Given the description of an element on the screen output the (x, y) to click on. 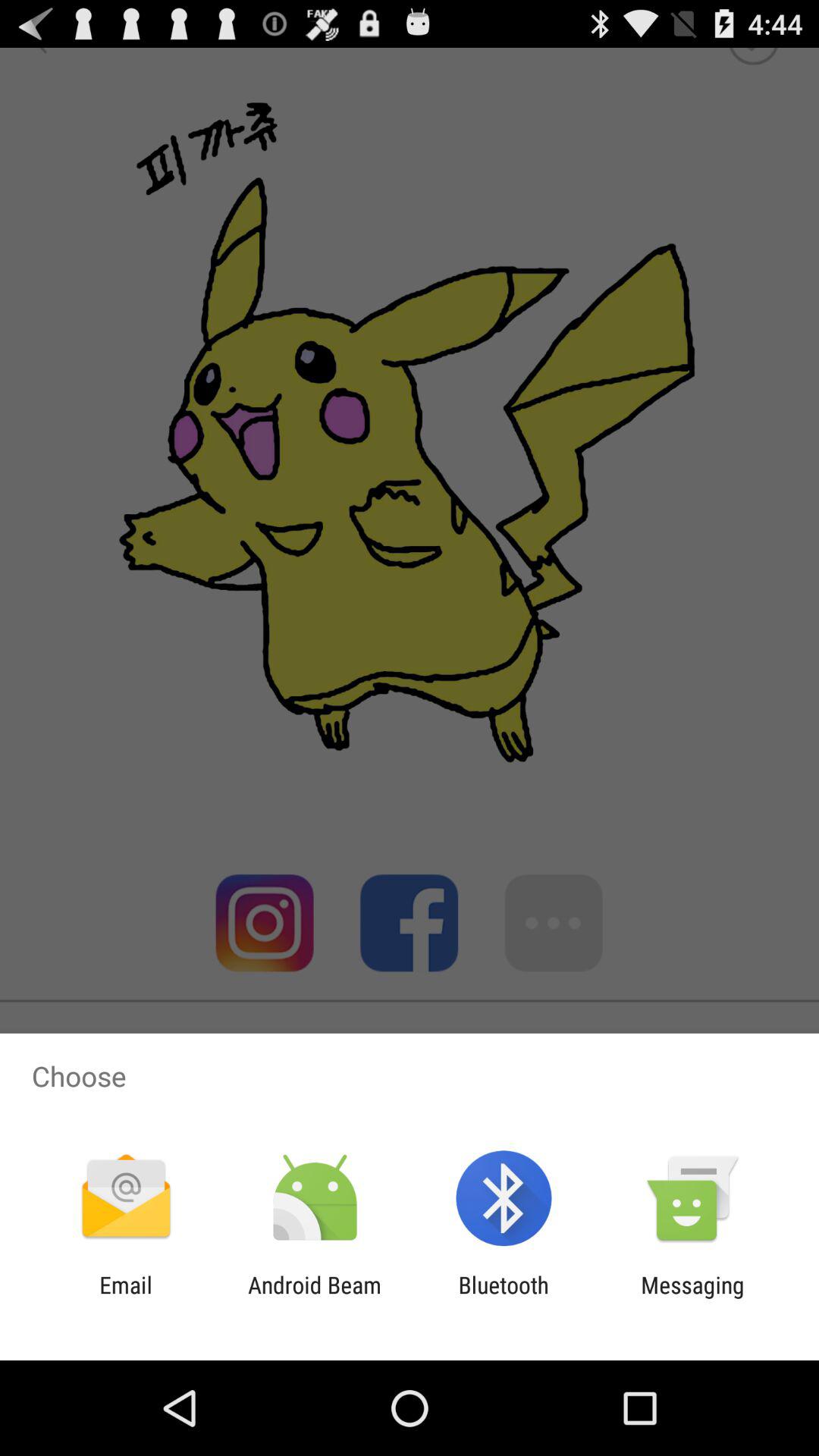
select item next to the bluetooth icon (692, 1298)
